Given the description of an element on the screen output the (x, y) to click on. 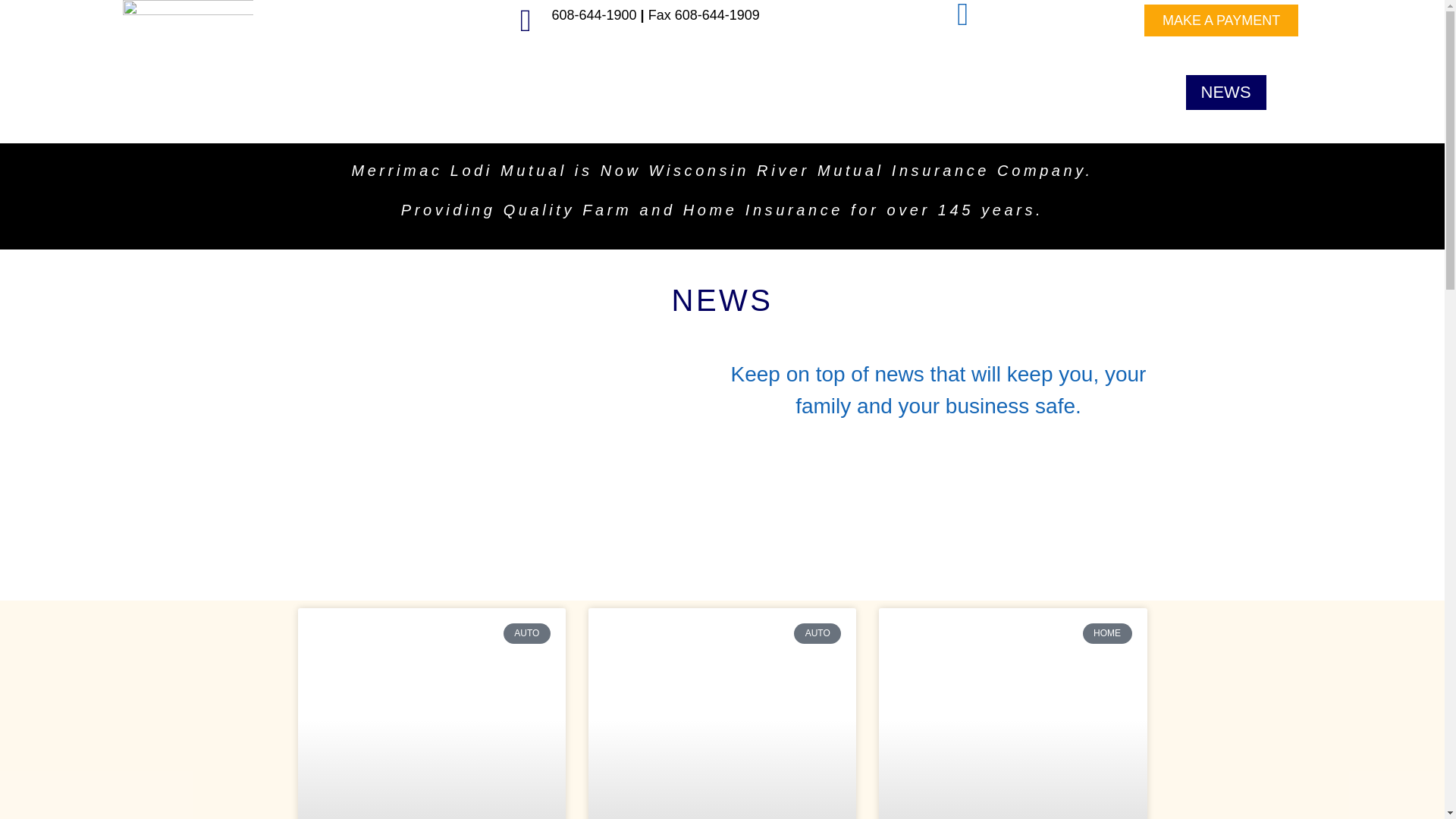
CONTACT (1130, 92)
CLAIMS (893, 92)
ABOUT (518, 92)
HOME (1306, 92)
FIND AN AGENT (768, 92)
MAKE A PAYMENT (1221, 20)
INSURANCE (626, 92)
RESOURCES (1007, 92)
NEWS (1226, 92)
